Given the description of an element on the screen output the (x, y) to click on. 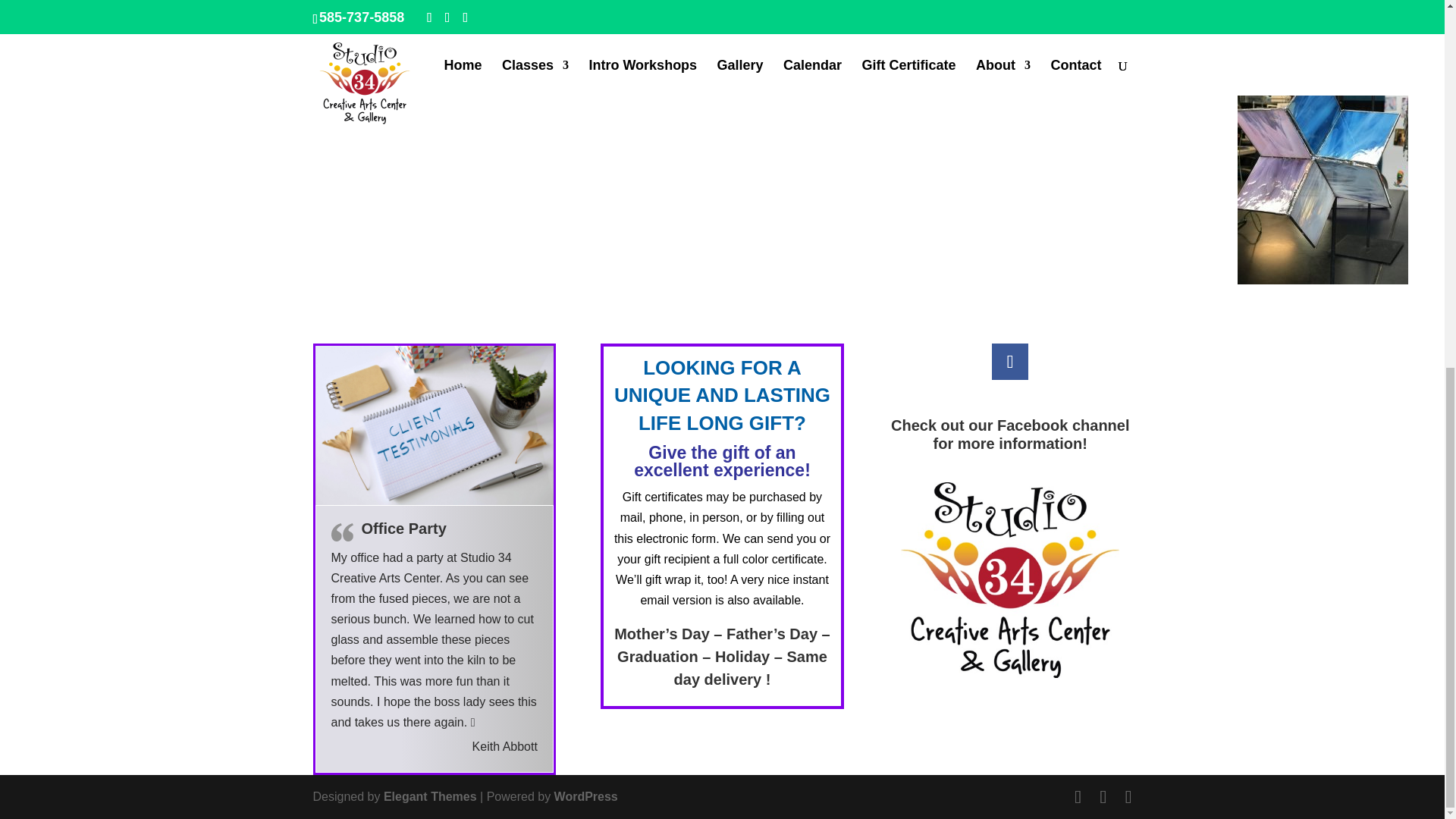
studio-34-artists-logo (1010, 580)
Follow on Facebook (1009, 361)
Premium WordPress Themes (430, 796)
Add to Cart (67, 1)
clienttestimonials (434, 425)
